Given the description of an element on the screen output the (x, y) to click on. 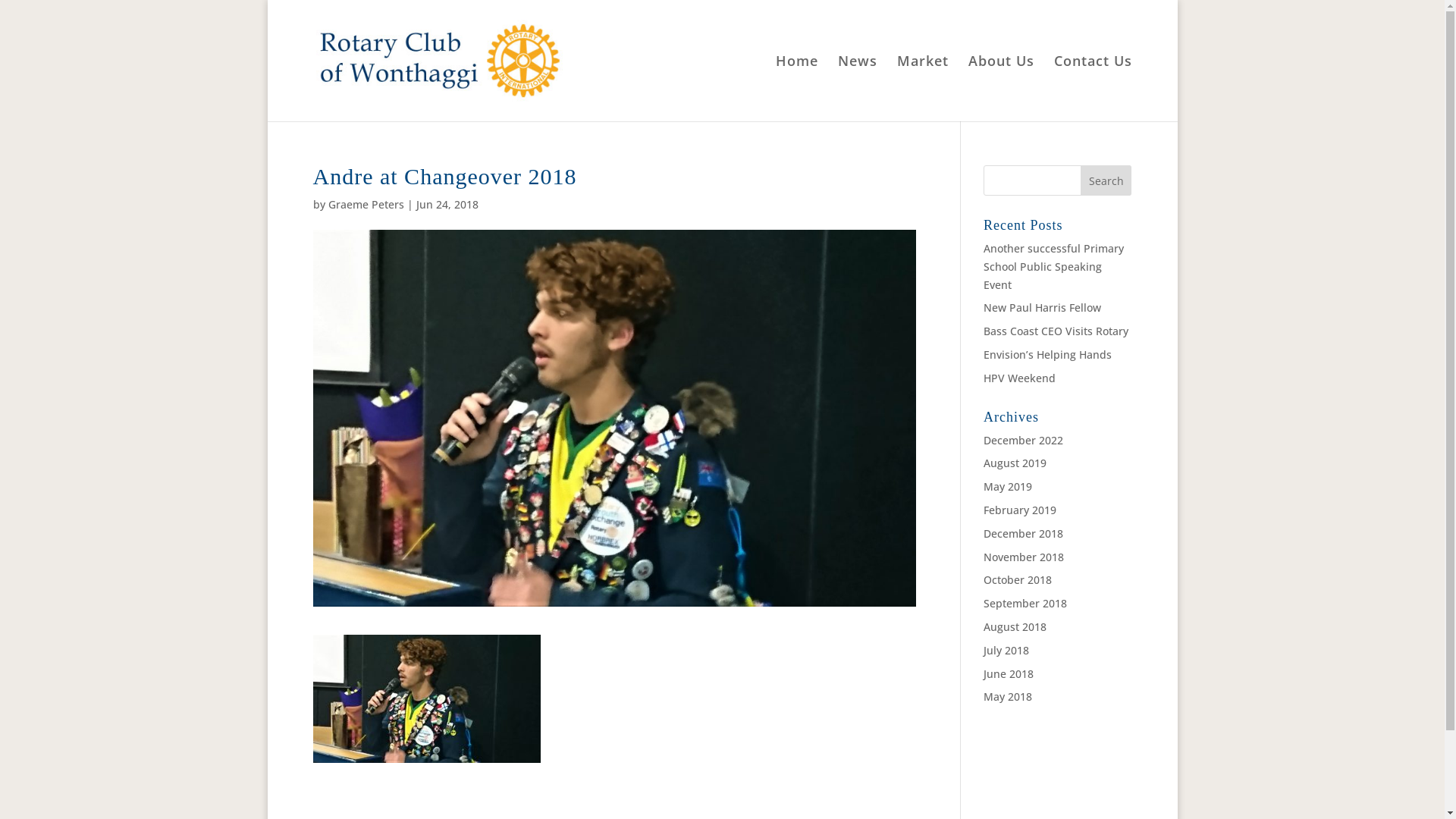
October 2018 Element type: text (1017, 579)
Graeme Peters Element type: text (365, 204)
Search Element type: text (1106, 180)
About Us Element type: text (1000, 88)
Bass Coast CEO Visits Rotary Element type: text (1055, 330)
Home Element type: text (796, 88)
December 2022 Element type: text (1023, 440)
Contact Us Element type: text (1093, 88)
May 2018 Element type: text (1007, 696)
November 2018 Element type: text (1023, 556)
Another successful Primary School Public Speaking Event Element type: text (1053, 266)
September 2018 Element type: text (1024, 603)
July 2018 Element type: text (1006, 650)
June 2018 Element type: text (1008, 673)
August 2018 Element type: text (1014, 626)
February 2019 Element type: text (1019, 509)
News Element type: text (856, 88)
August 2019 Element type: text (1014, 462)
Market Element type: text (921, 88)
May 2019 Element type: text (1007, 486)
December 2018 Element type: text (1023, 533)
New Paul Harris Fellow Element type: text (1042, 307)
HPV Weekend Element type: text (1019, 377)
